Given the description of an element on the screen output the (x, y) to click on. 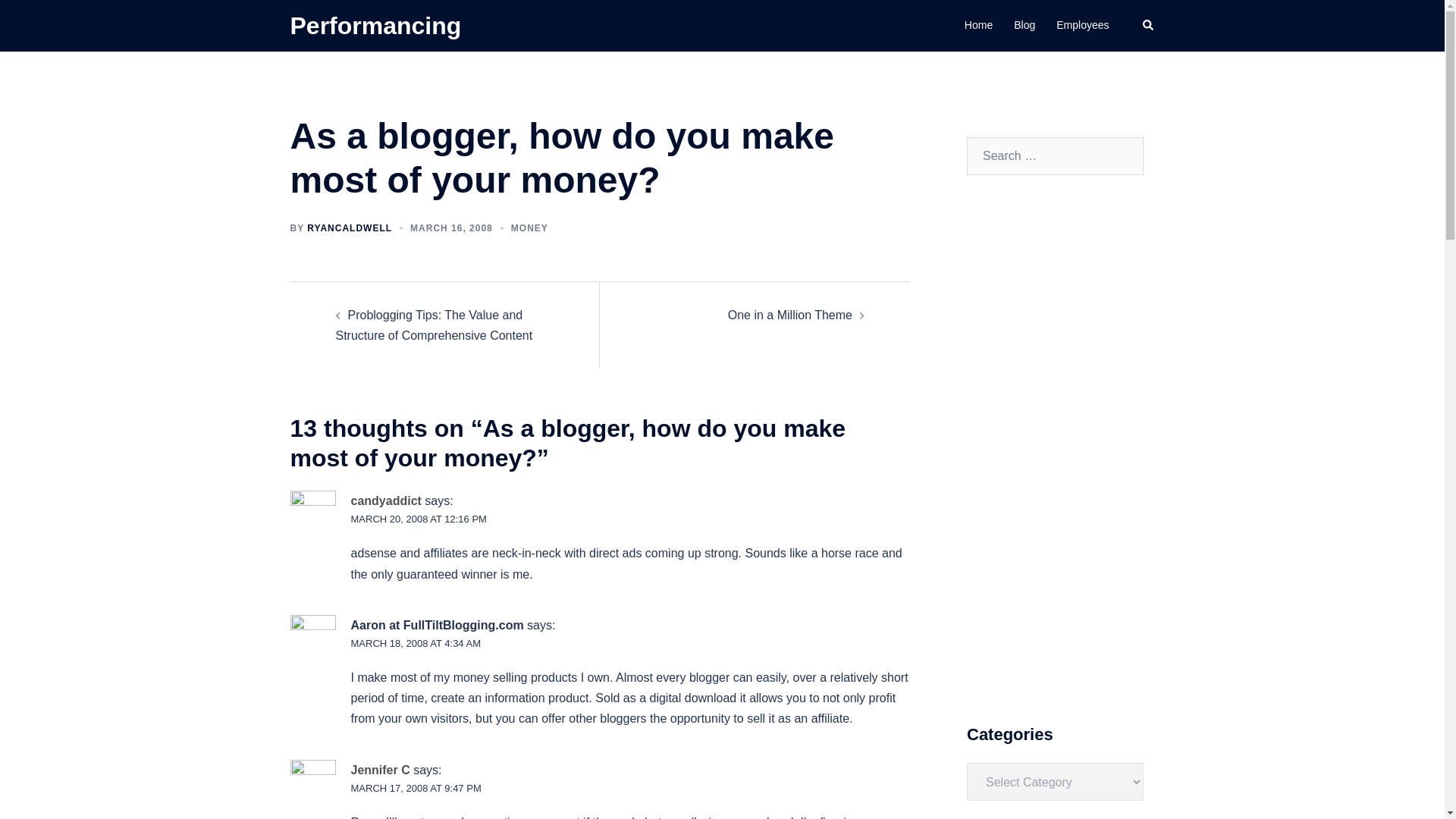
Employees (1082, 25)
MONEY (529, 227)
MARCH 18, 2008 AT 4:34 AM (415, 643)
Blog (1024, 25)
One in a Million Theme (789, 314)
Home (977, 25)
RYANCALDWELL (349, 227)
Search (1147, 25)
MARCH 16, 2008 (451, 227)
MARCH 17, 2008 AT 9:47 PM (415, 787)
Performancing (375, 25)
MARCH 20, 2008 AT 12:16 PM (418, 518)
Aaron at FullTiltBlogging.com (436, 625)
